Given the description of an element on the screen output the (x, y) to click on. 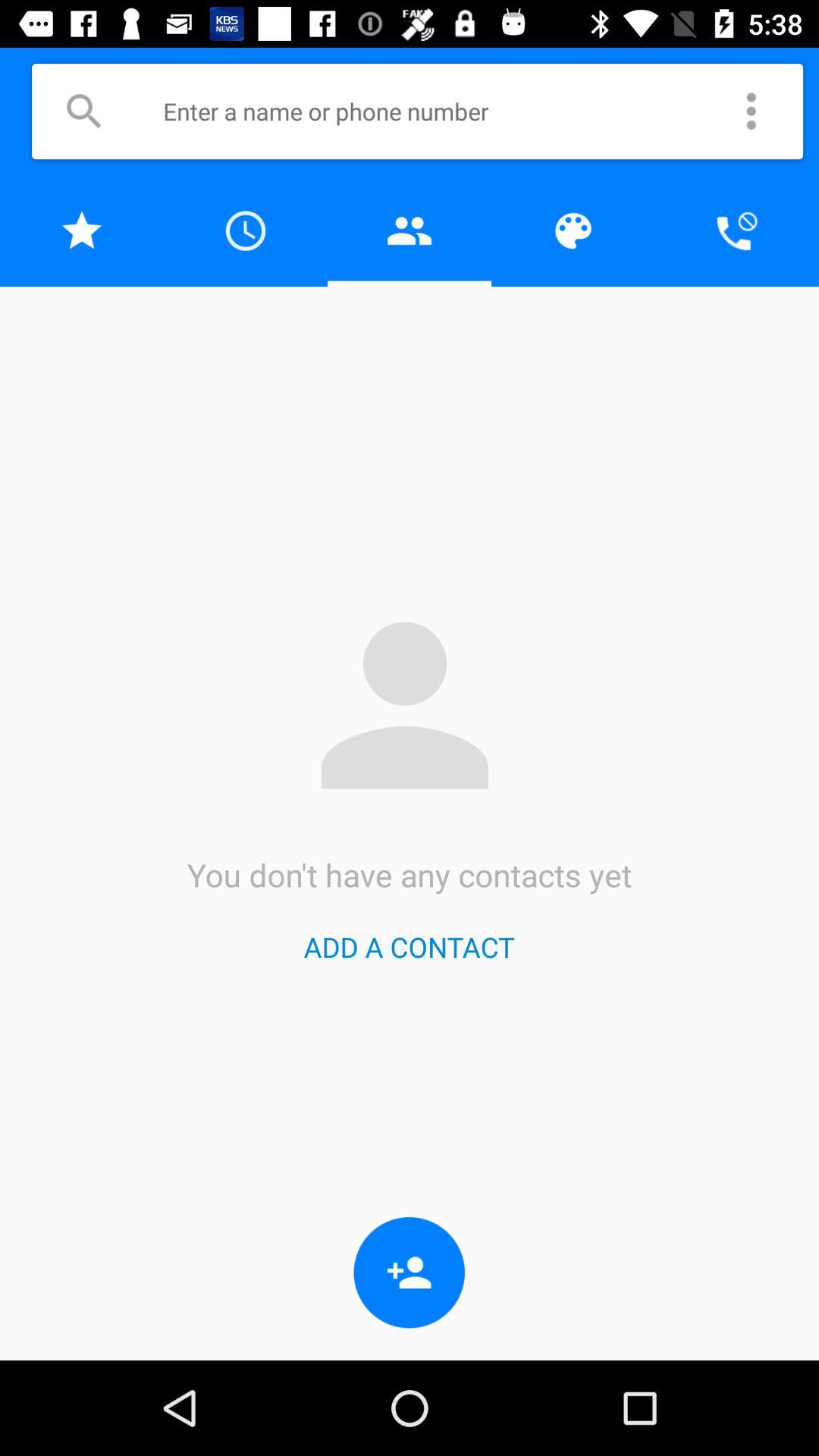
swipe until add a contact app (408, 946)
